Given the description of an element on the screen output the (x, y) to click on. 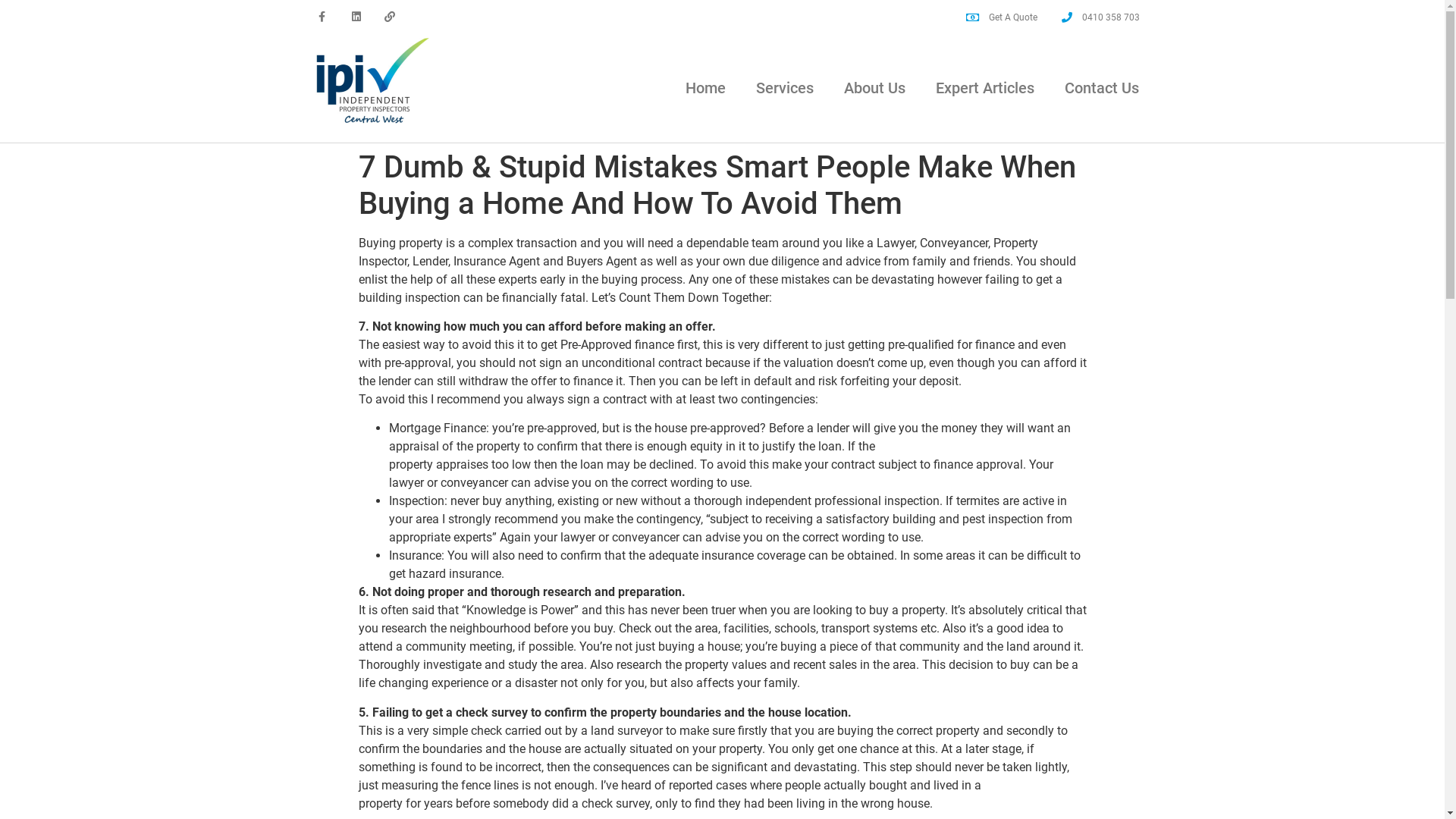
About Us Element type: text (874, 87)
Expert Articles Element type: text (984, 87)
Services Element type: text (784, 87)
Get A Quote Element type: text (1002, 17)
Contact Us Element type: text (1101, 87)
Home Element type: text (705, 87)
0410 358 703 Element type: text (1098, 17)
